Given the description of an element on the screen output the (x, y) to click on. 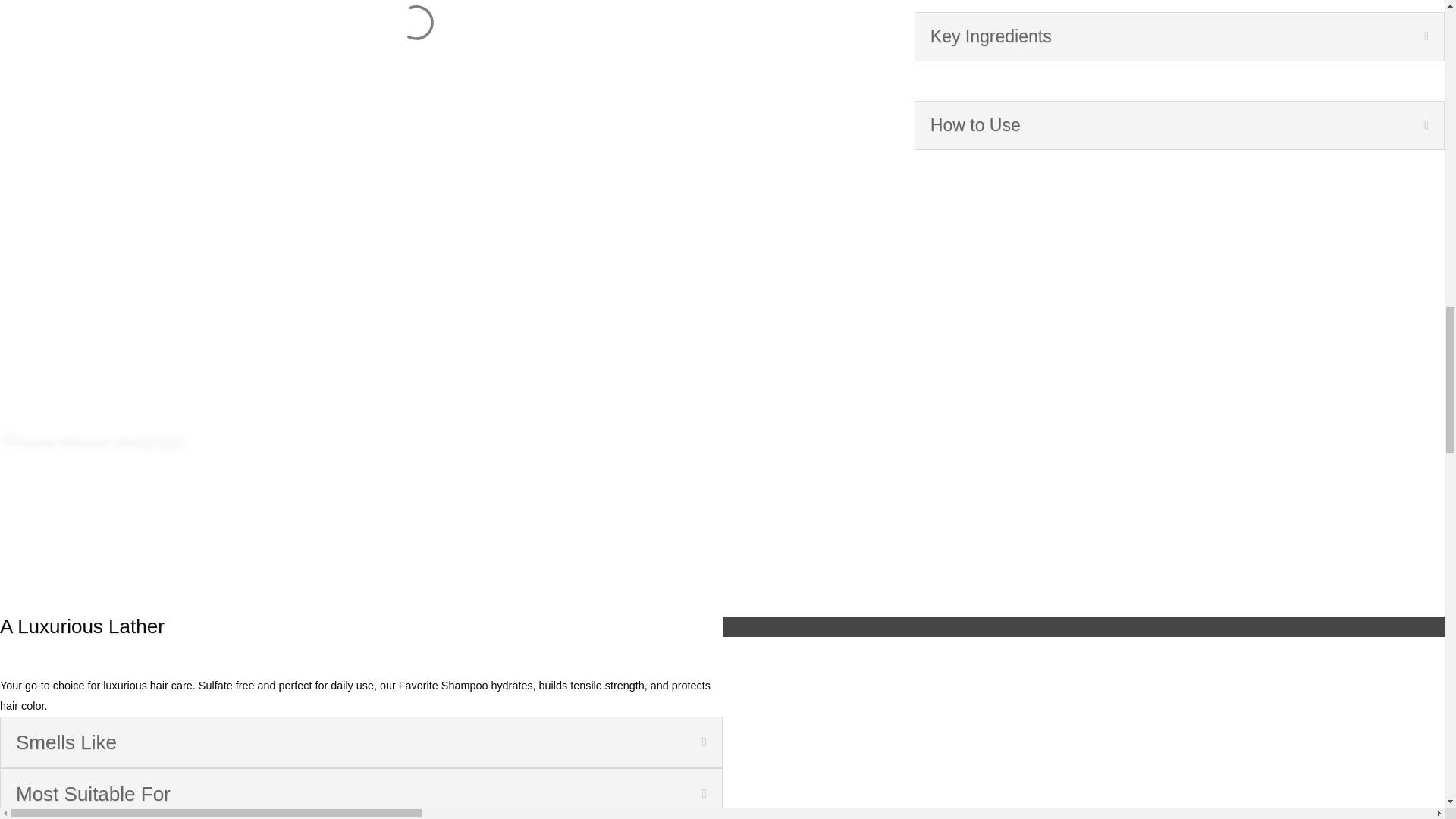
favoriteshampoo-ingredients (178, 441)
12889 (163, 441)
10956 (148, 441)
